Given the description of an element on the screen output the (x, y) to click on. 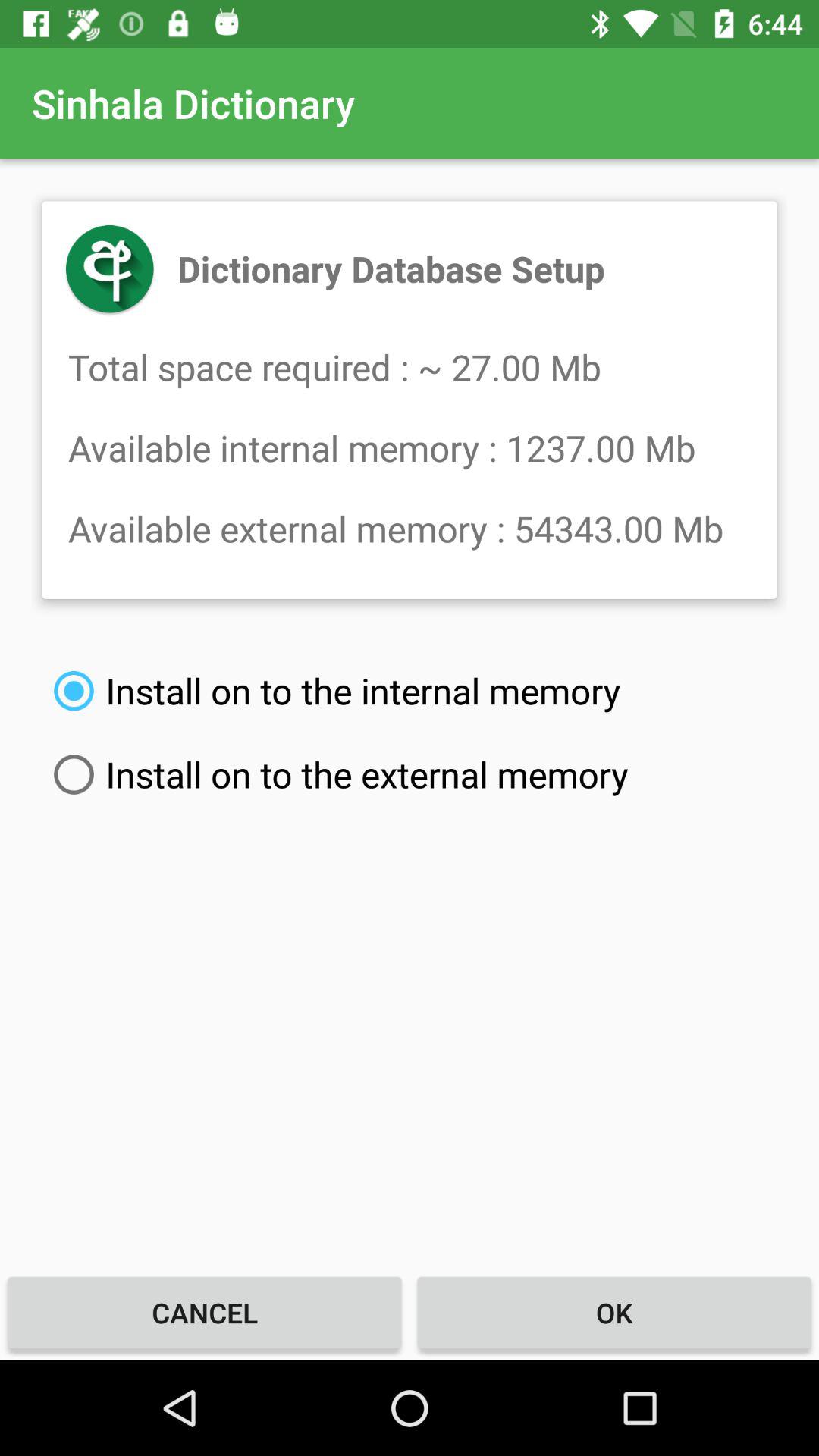
jump until cancel item (204, 1312)
